Given the description of an element on the screen output the (x, y) to click on. 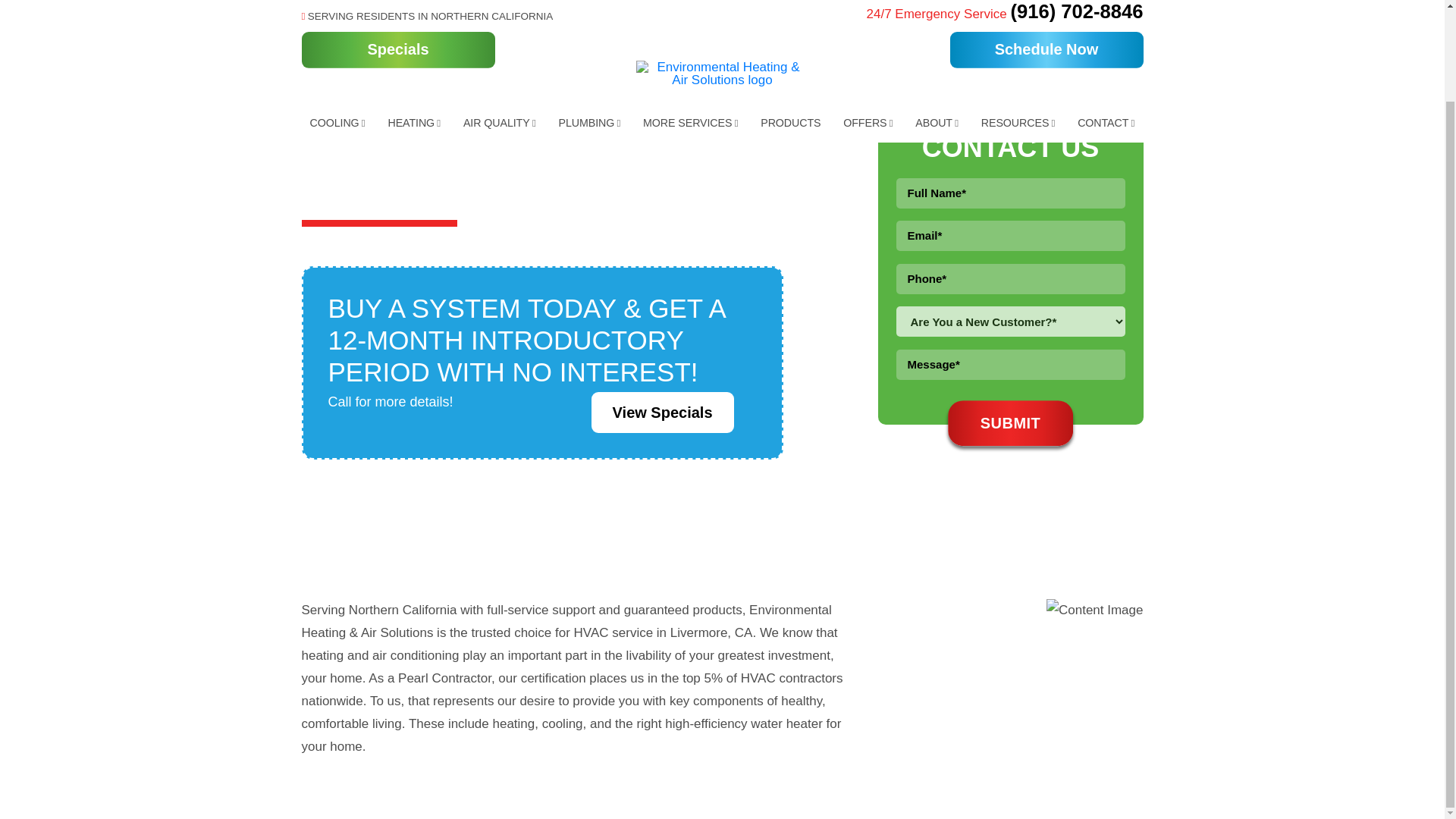
Submit (1010, 423)
AIR QUALITY (499, 18)
MORE SERVICES (689, 18)
HEATING (413, 18)
PLUMBING (589, 18)
COOLING (337, 18)
